Given the description of an element on the screen output the (x, y) to click on. 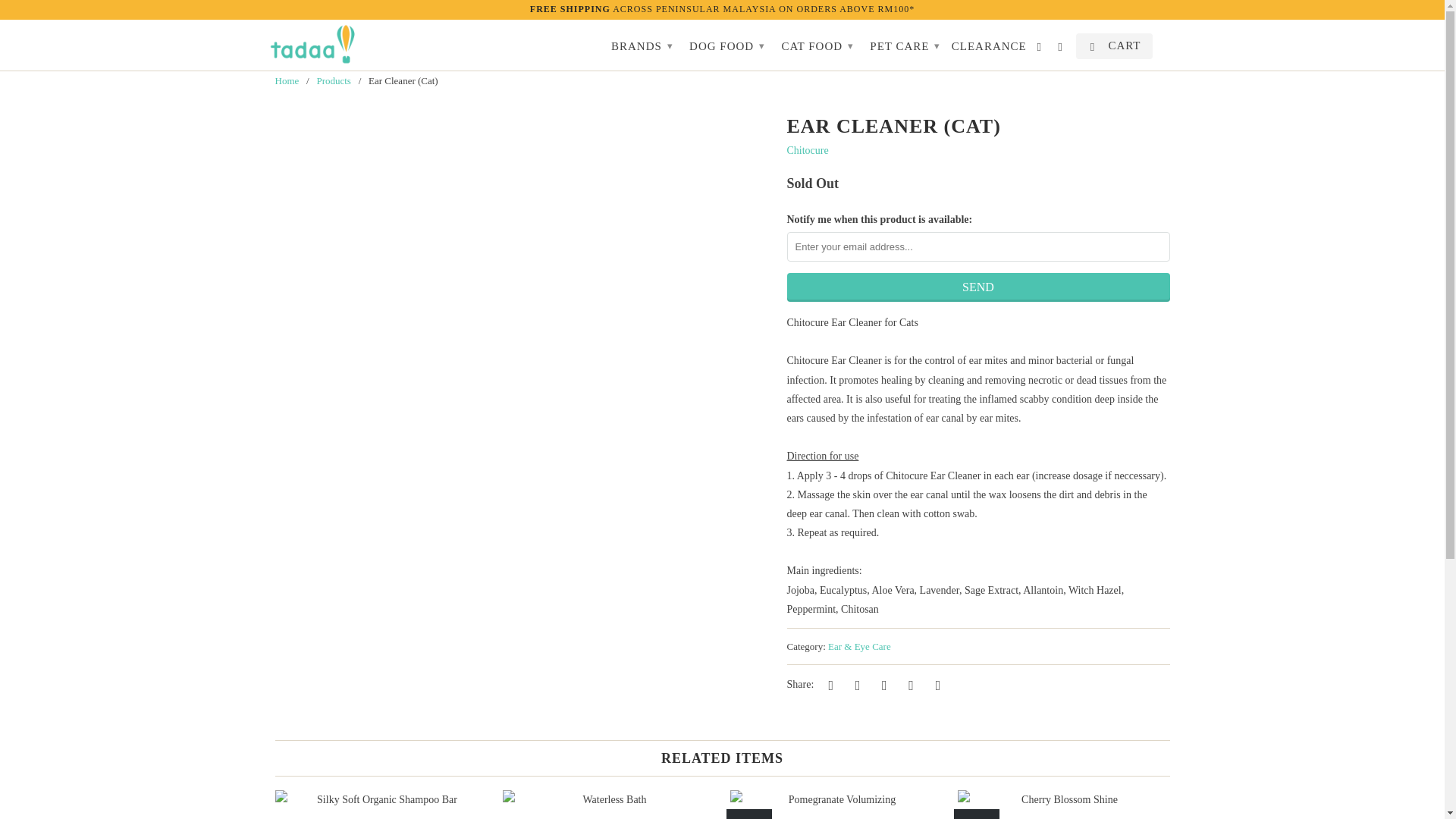
Products (332, 80)
Share this on Twitter (828, 684)
Email this to a friend (935, 684)
Share this on Pinterest (881, 684)
Share this on Facebook (855, 684)
Chitocure (807, 150)
tadaa! (286, 80)
Send (978, 287)
tadaa! (312, 44)
